Given the description of an element on the screen output the (x, y) to click on. 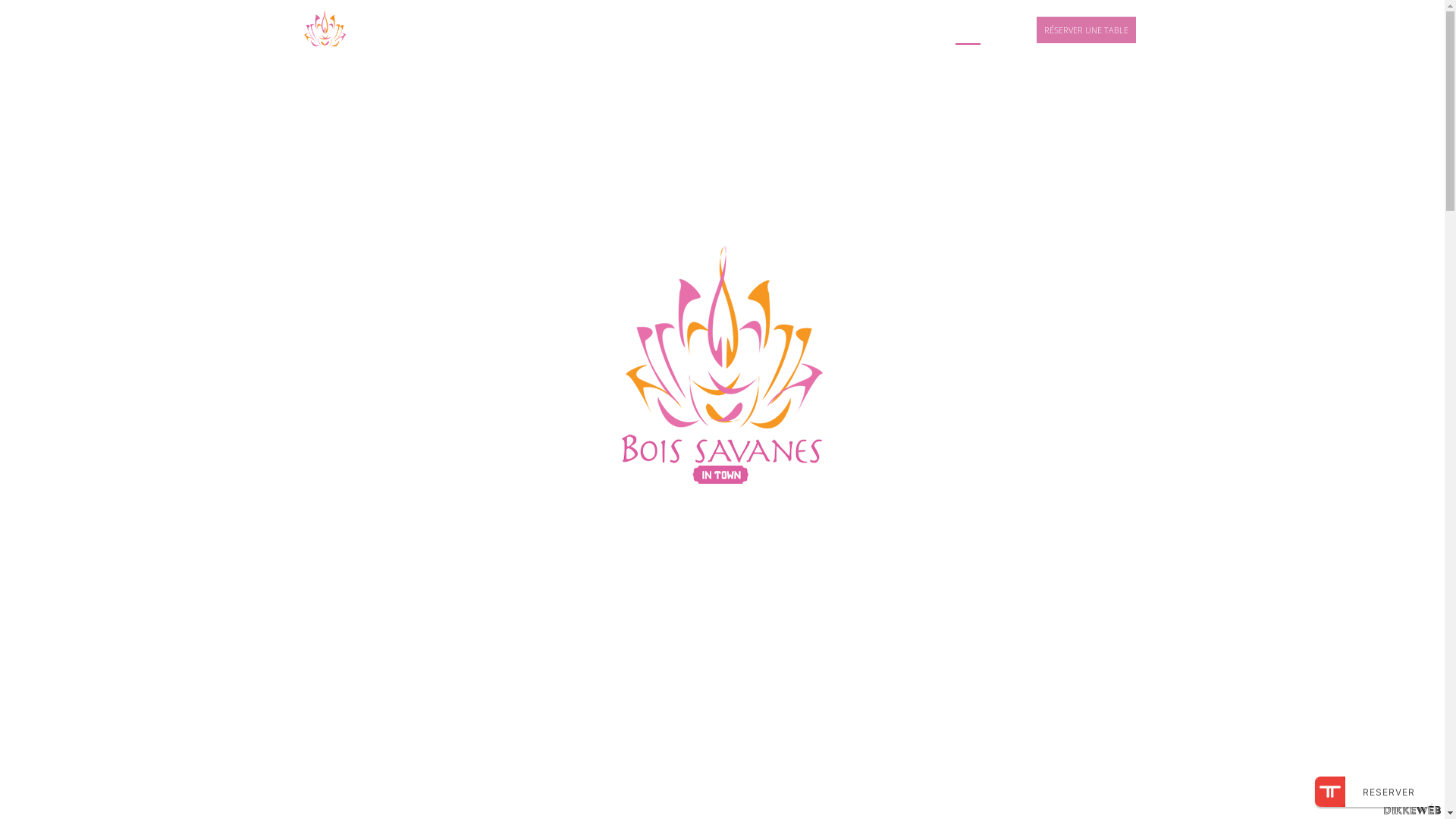
Bois Savanes In Town Element type: hover (324, 29)
GALERIE Element type: text (848, 29)
EN Element type: text (1007, 29)
FR Element type: text (967, 30)
LE RESTAURANT Element type: text (710, 29)
CONTACT Element type: text (913, 29)
MENUS Element type: text (787, 29)
ACCUEIL Element type: text (632, 29)
